Given the description of an element on the screen output the (x, y) to click on. 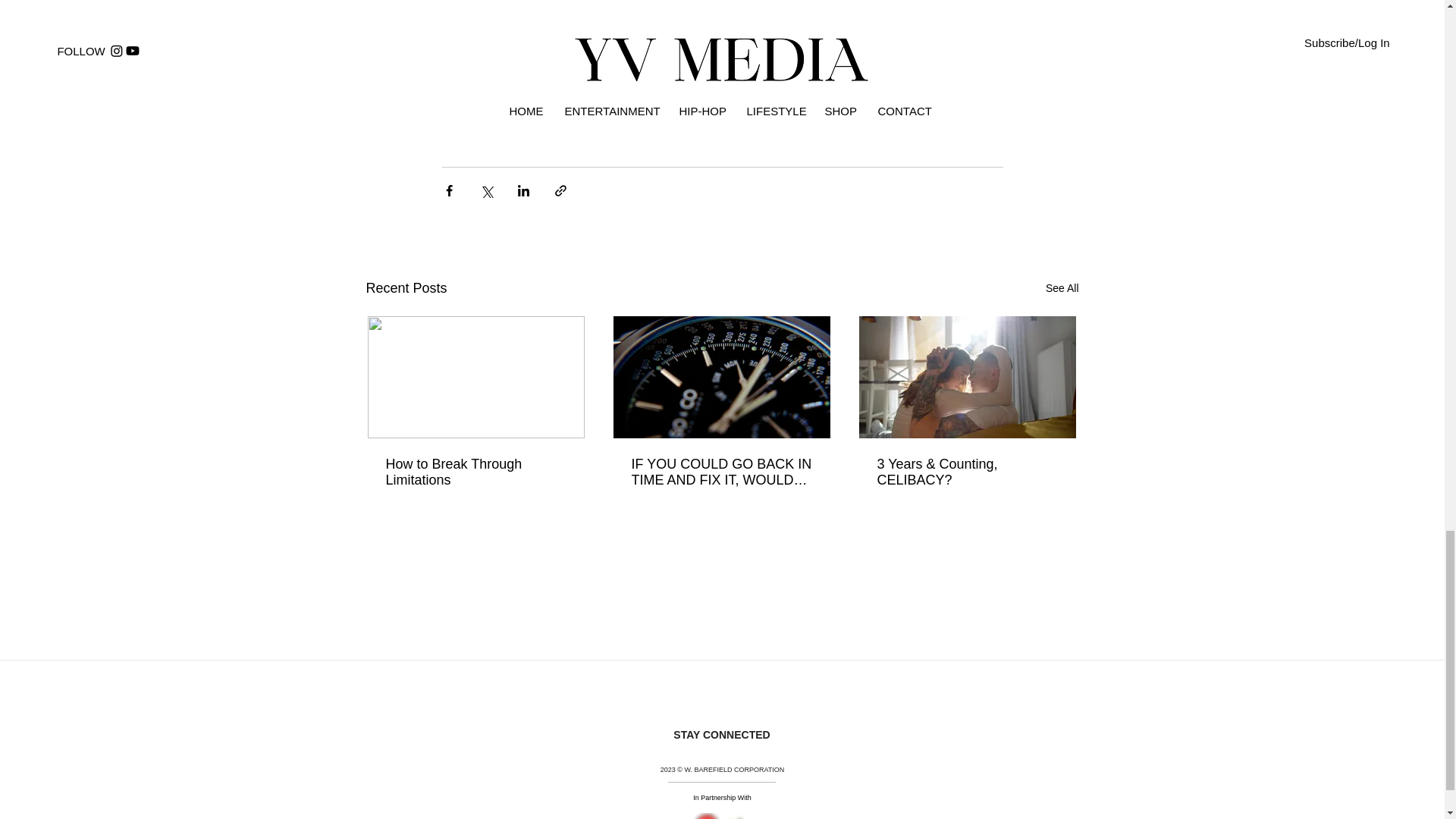
See All (1061, 288)
How to Break Through Limitations (475, 472)
IF YOU COULD GO BACK IN TIME AND FIX IT, WOULD YOU? (720, 472)
